Given the description of an element on the screen output the (x, y) to click on. 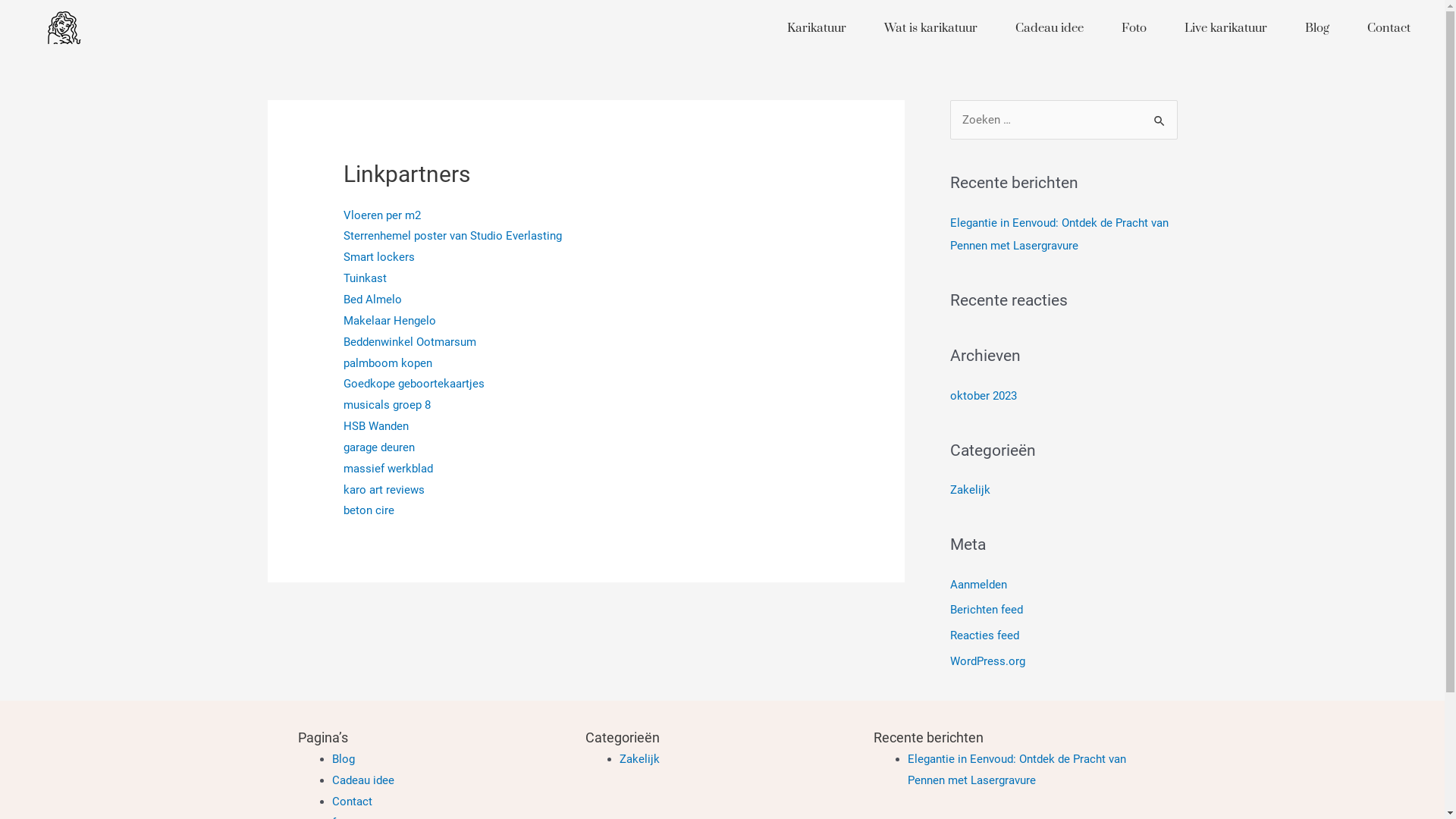
garage deuren Element type: text (378, 447)
Contact Element type: text (1388, 27)
Foto Element type: text (1133, 27)
Blog Element type: text (1317, 27)
Beddenwinkel Ootmarsum Element type: text (409, 341)
oktober 2023 Element type: text (982, 394)
Karikatuur Element type: text (816, 27)
palmboom kopen Element type: text (387, 363)
Zoeken Element type: text (1160, 115)
Bed Almelo Element type: text (372, 299)
noun_burlesque_2162265 Element type: hover (64, 27)
beton cire Element type: text (368, 510)
Goedkope geboortekaartjes Element type: text (413, 383)
massief werkblad Element type: text (388, 468)
Tuinkast Element type: text (364, 278)
Vloeren per m2 Element type: text (381, 215)
Aanmelden Element type: text (977, 584)
Sterrenhemel poster van Studio Everlasting Element type: text (452, 235)
Blog Element type: text (343, 758)
WordPress.org Element type: text (986, 661)
musicals groep 8 Element type: text (386, 404)
HSB Wanden Element type: text (375, 426)
Smart lockers Element type: text (378, 256)
Reacties feed Element type: text (983, 635)
Cadeau idee Element type: text (1049, 27)
karo art reviews Element type: text (383, 489)
Zakelijk Element type: text (969, 489)
Zakelijk Element type: text (639, 758)
Wat is karikatuur Element type: text (930, 27)
Contact Element type: text (352, 801)
Berichten feed Element type: text (985, 609)
Cadeau idee Element type: text (363, 780)
Live karikatuur Element type: text (1225, 27)
Makelaar Hengelo Element type: text (389, 320)
